Given the description of an element on the screen output the (x, y) to click on. 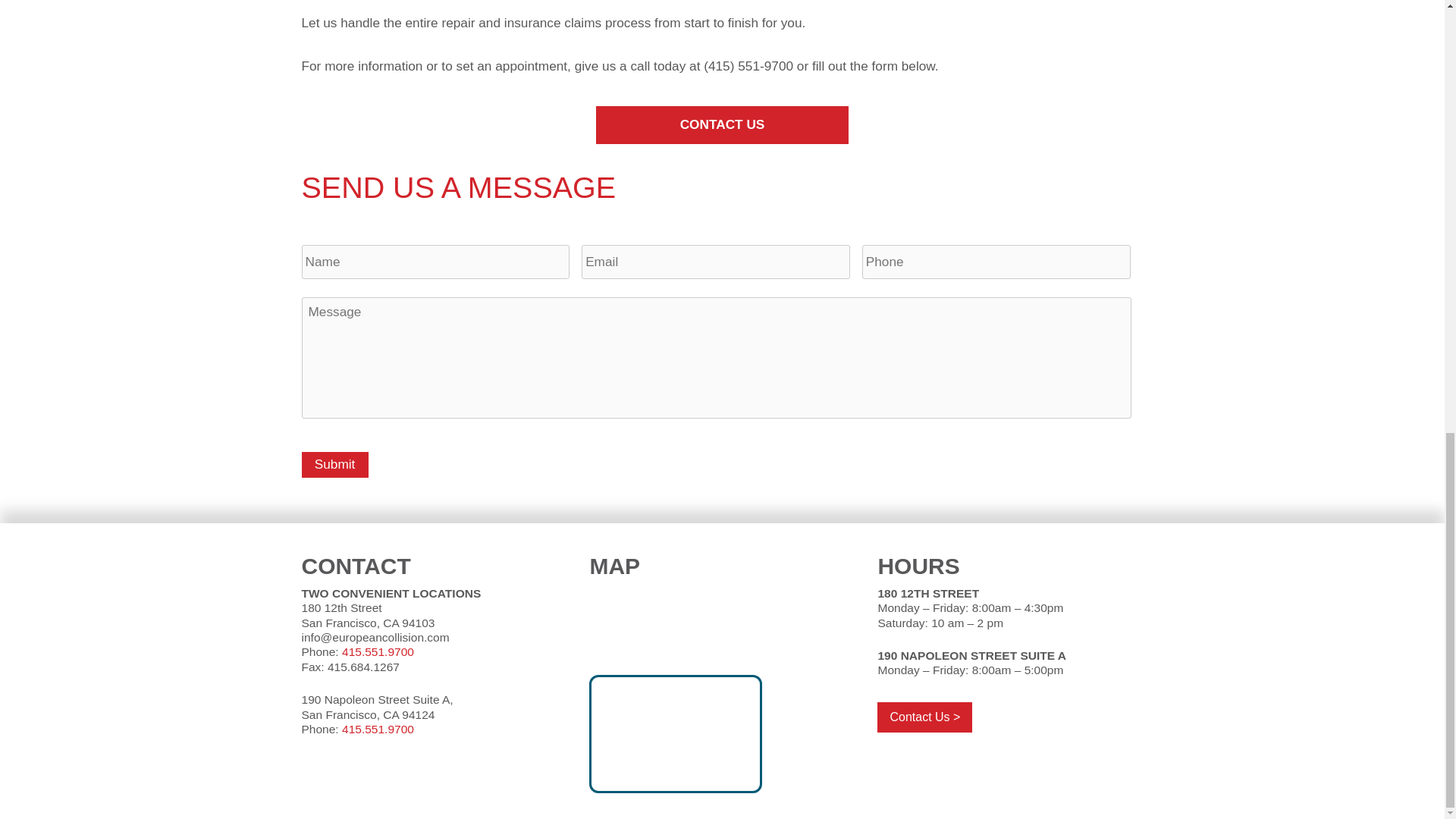
Submit (334, 464)
Submit (334, 464)
415.551.9700 (377, 651)
415.551.9700 (377, 728)
CONTACT US (721, 125)
